Given the description of an element on the screen output the (x, y) to click on. 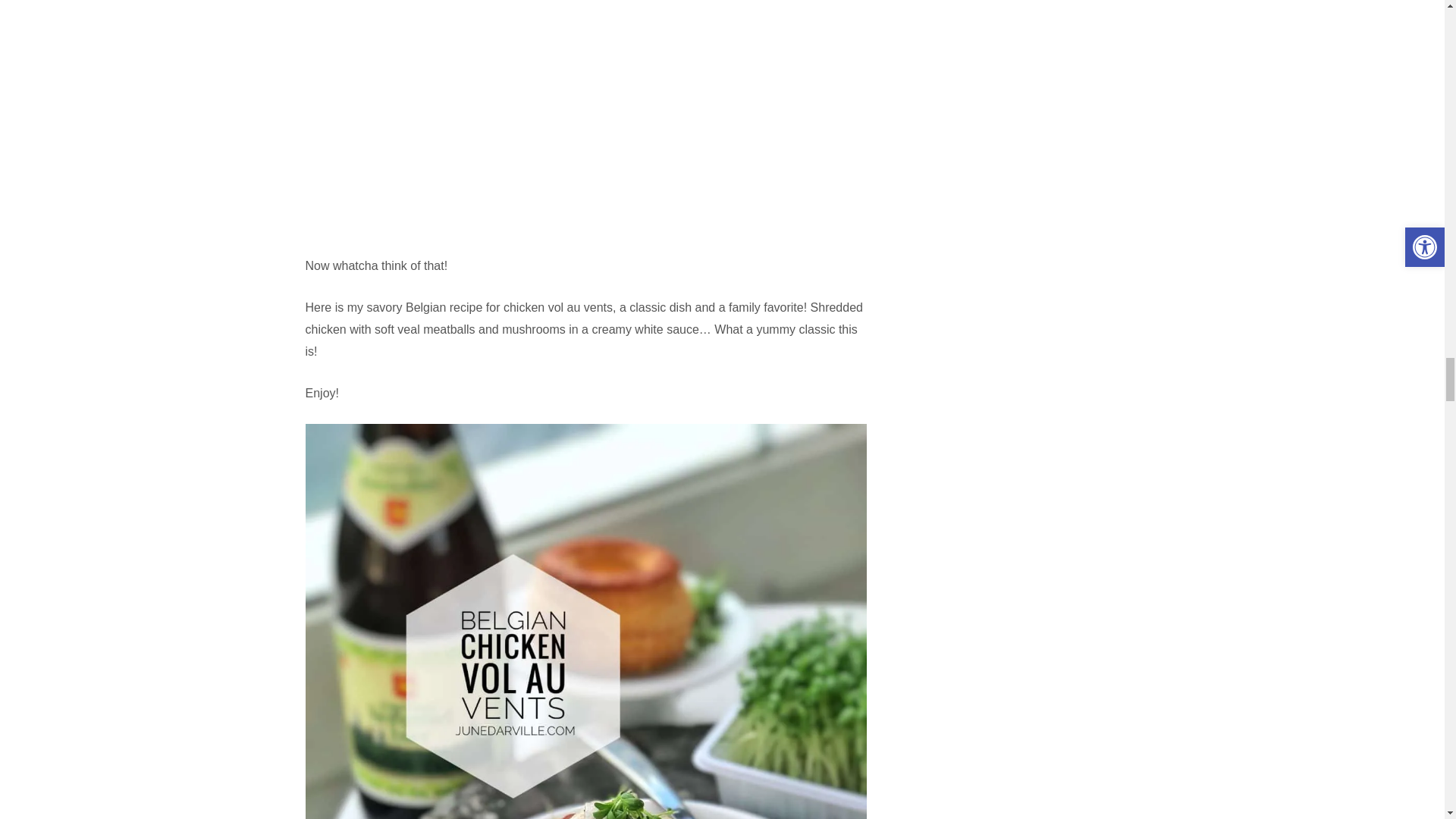
YouTube player (585, 97)
